Given the description of an element on the screen output the (x, y) to click on. 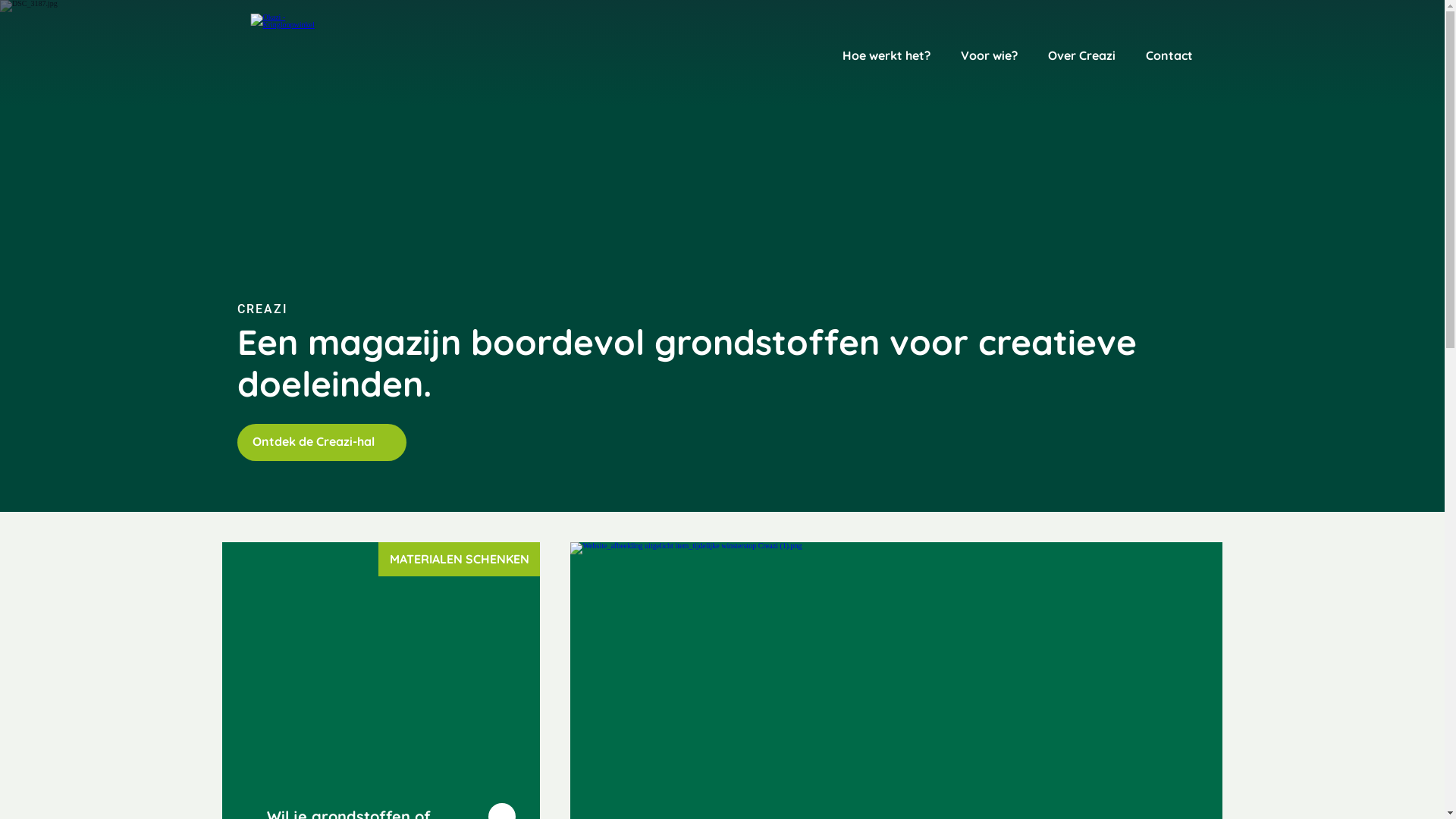
Hoe werkt het? Element type: text (885, 57)
Voor wie? Element type: text (988, 57)
Contact Element type: text (1168, 57)
DSC_3187.jpg Element type: hover (722, 255)
Over Creazi Element type: text (1081, 57)
Ontdek de Creazi-hal Element type: text (320, 442)
